Given the description of an element on the screen output the (x, y) to click on. 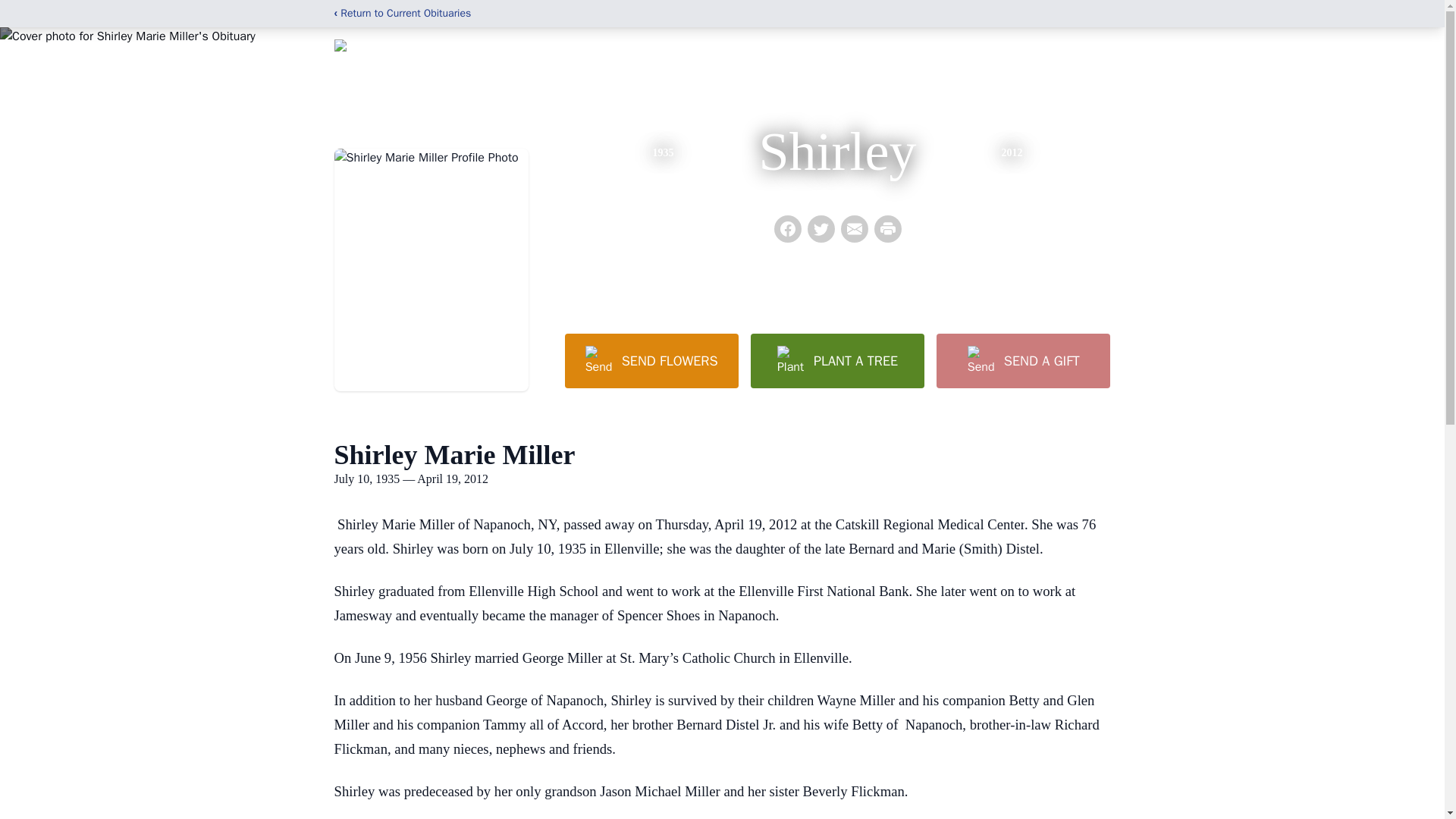
SEND FLOWERS (651, 360)
SEND A GIFT (1022, 360)
PLANT A TREE (837, 360)
